Given the description of an element on the screen output the (x, y) to click on. 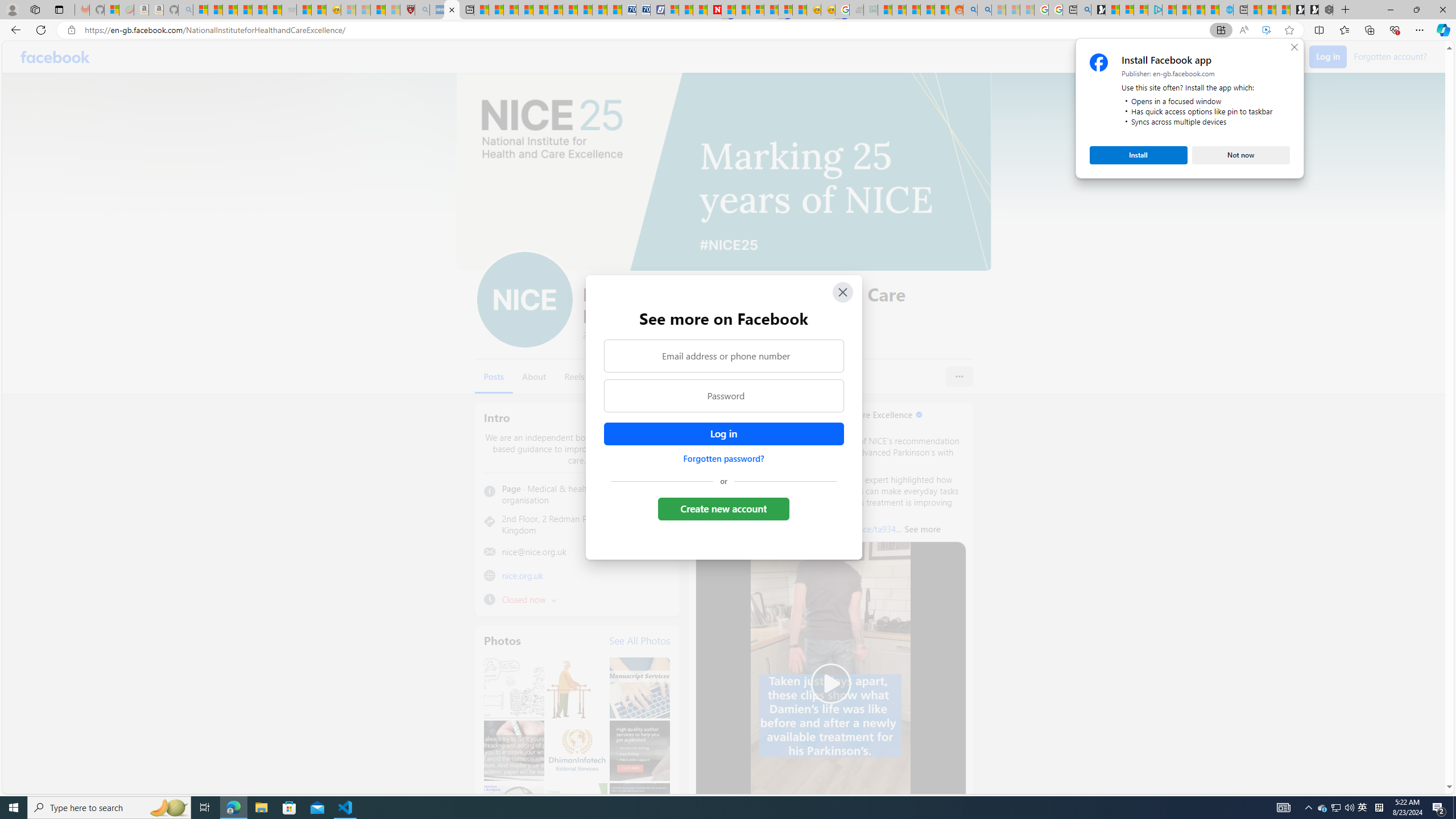
Task View (204, 807)
Email address or phone number (723, 355)
Cheap Hotels - Save70.com (643, 9)
Facebook (55, 56)
